Given the description of an element on the screen output the (x, y) to click on. 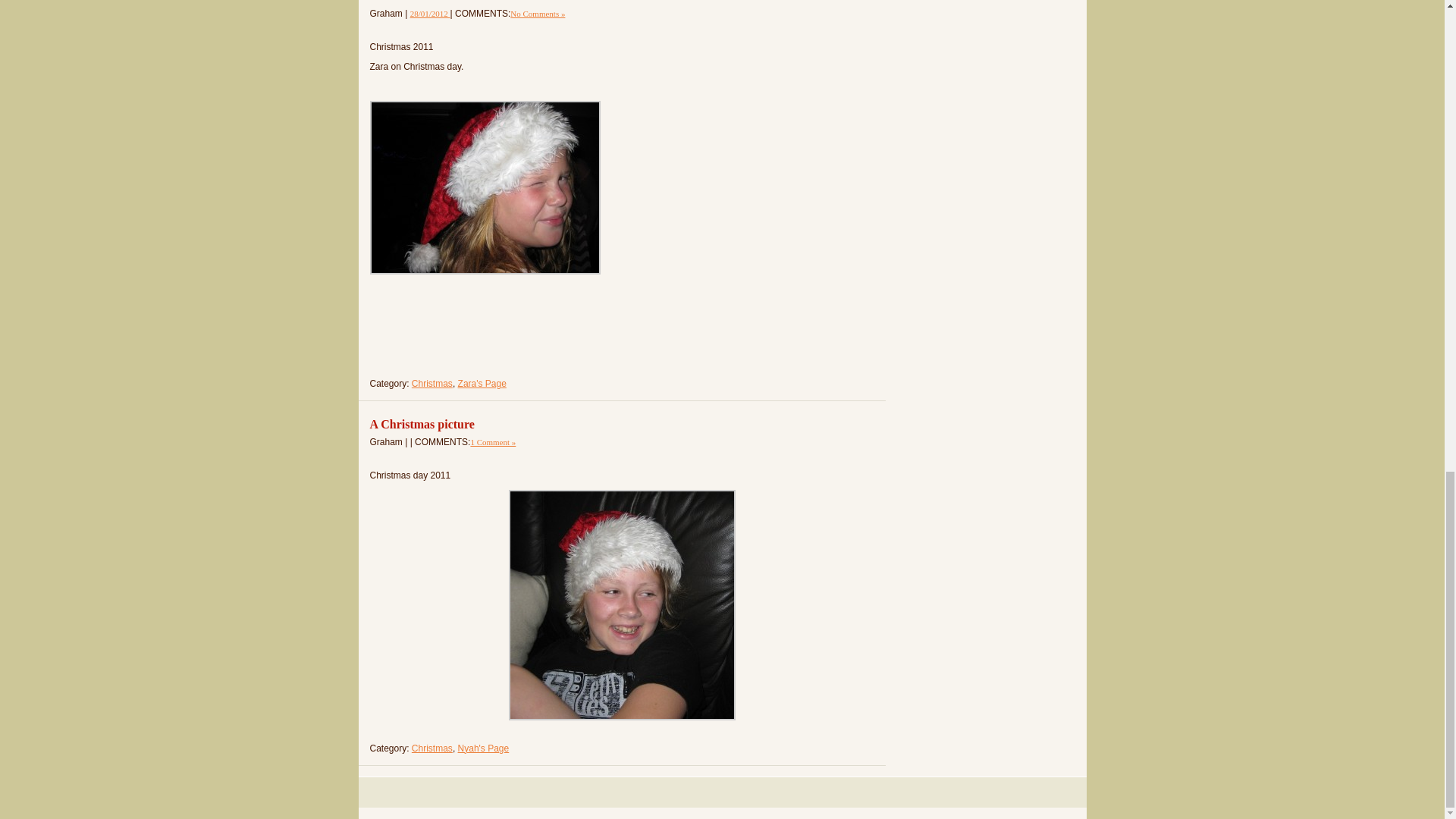
A Christmas moment (424, 1)
Nyah's Page (483, 747)
A Christmas picture (421, 423)
Zara's Page (482, 383)
A Christmas moment (429, 13)
ZaraXmas2011 (484, 187)
A Christmas picture (421, 423)
Christmas (432, 747)
A Christmas moment (424, 1)
Christmas (432, 383)
